Given the description of an element on the screen output the (x, y) to click on. 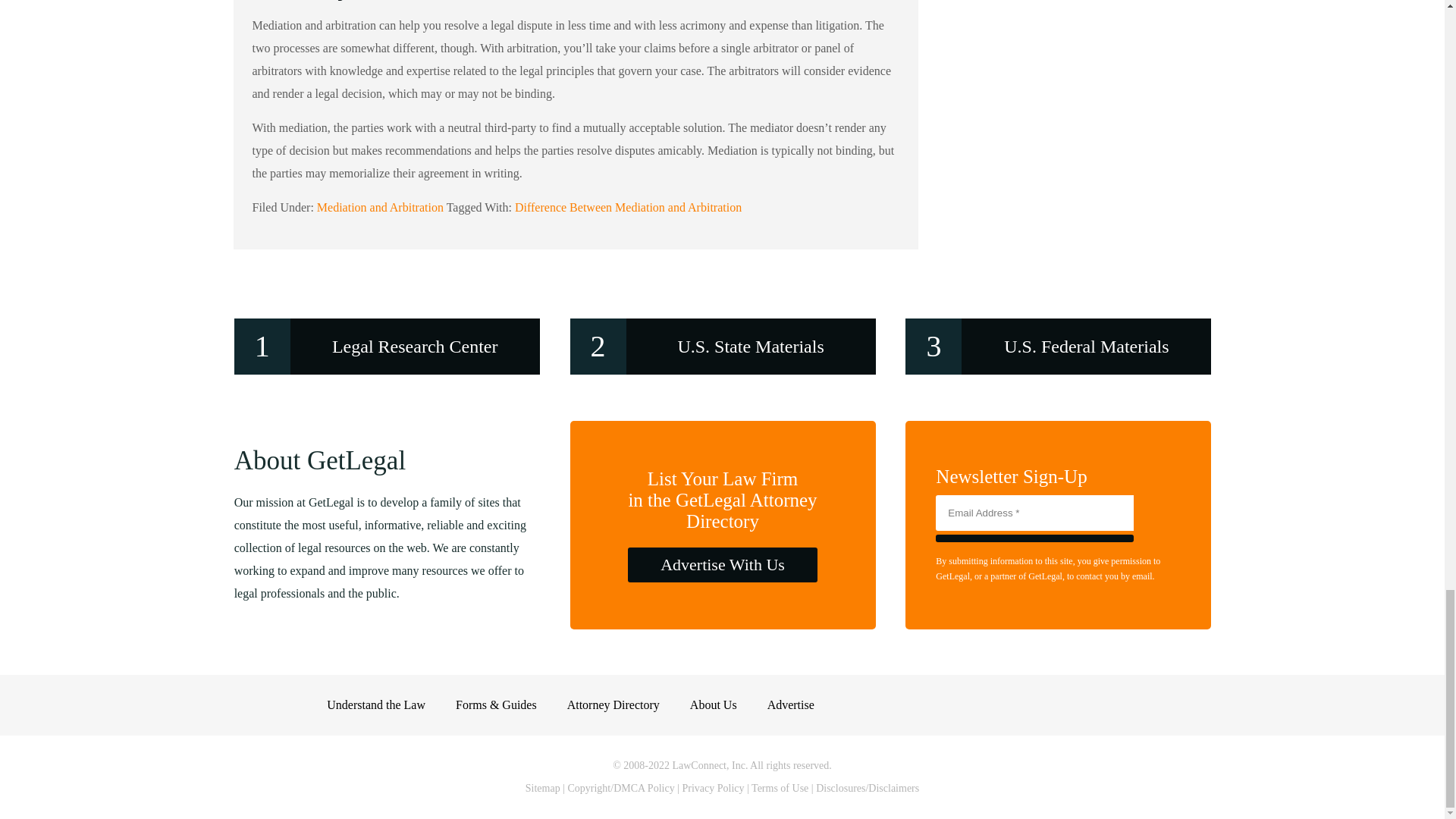
Subscribe! (1035, 538)
Mediation and Arbitration (380, 206)
Difference Between Mediation and Arbitration (628, 206)
